Given the description of an element on the screen output the (x, y) to click on. 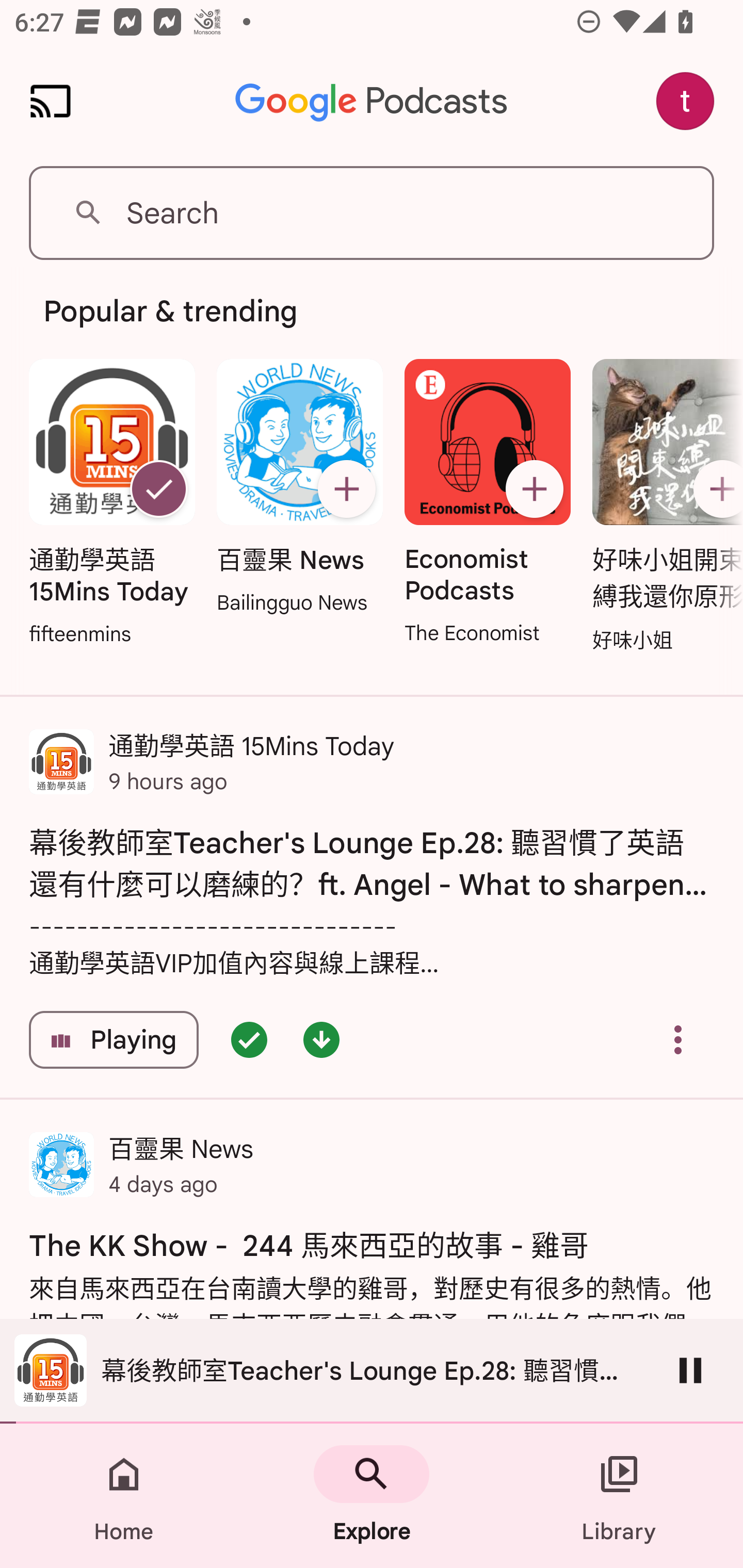
Cast. Disconnected (50, 101)
Search (371, 212)
百靈果 News Subscribe 百靈果 News Bailingguo News (299, 488)
好味小姐開束縛我還你原形 Subscribe 好味小姐開束縛我還你原形 好味小姐 (662, 507)
Unsubscribe (158, 489)
Subscribe (346, 489)
Subscribe (534, 489)
Subscribe (714, 489)
Episode queued - double tap for options (249, 1040)
Episode downloaded - double tap for options (321, 1040)
Overflow menu (677, 1040)
Pause (690, 1370)
Home (123, 1495)
Library (619, 1495)
